Given the description of an element on the screen output the (x, y) to click on. 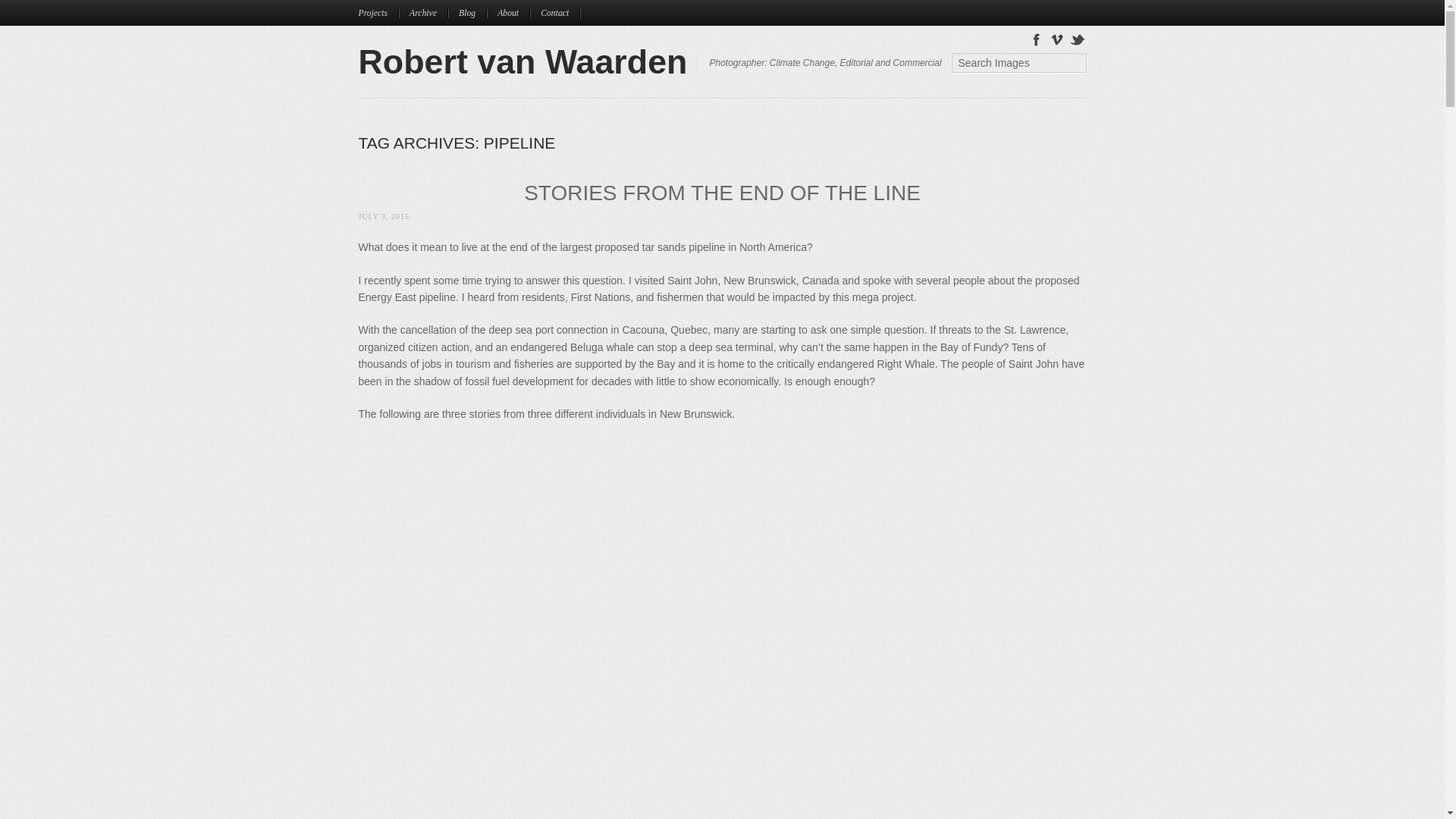
Projects (378, 13)
Contact (559, 13)
FACEBOOK (1036, 38)
4:25 pm (383, 216)
Robert van Waarden (522, 61)
Archive (428, 13)
Robert van Waarden (522, 61)
VIMEO (1056, 38)
Search Images (1018, 62)
Skip to content (395, 8)
Blog (472, 13)
About (513, 13)
Skip to content (395, 8)
Permalink to Stories from the End of the Line (722, 192)
